Given the description of an element on the screen output the (x, y) to click on. 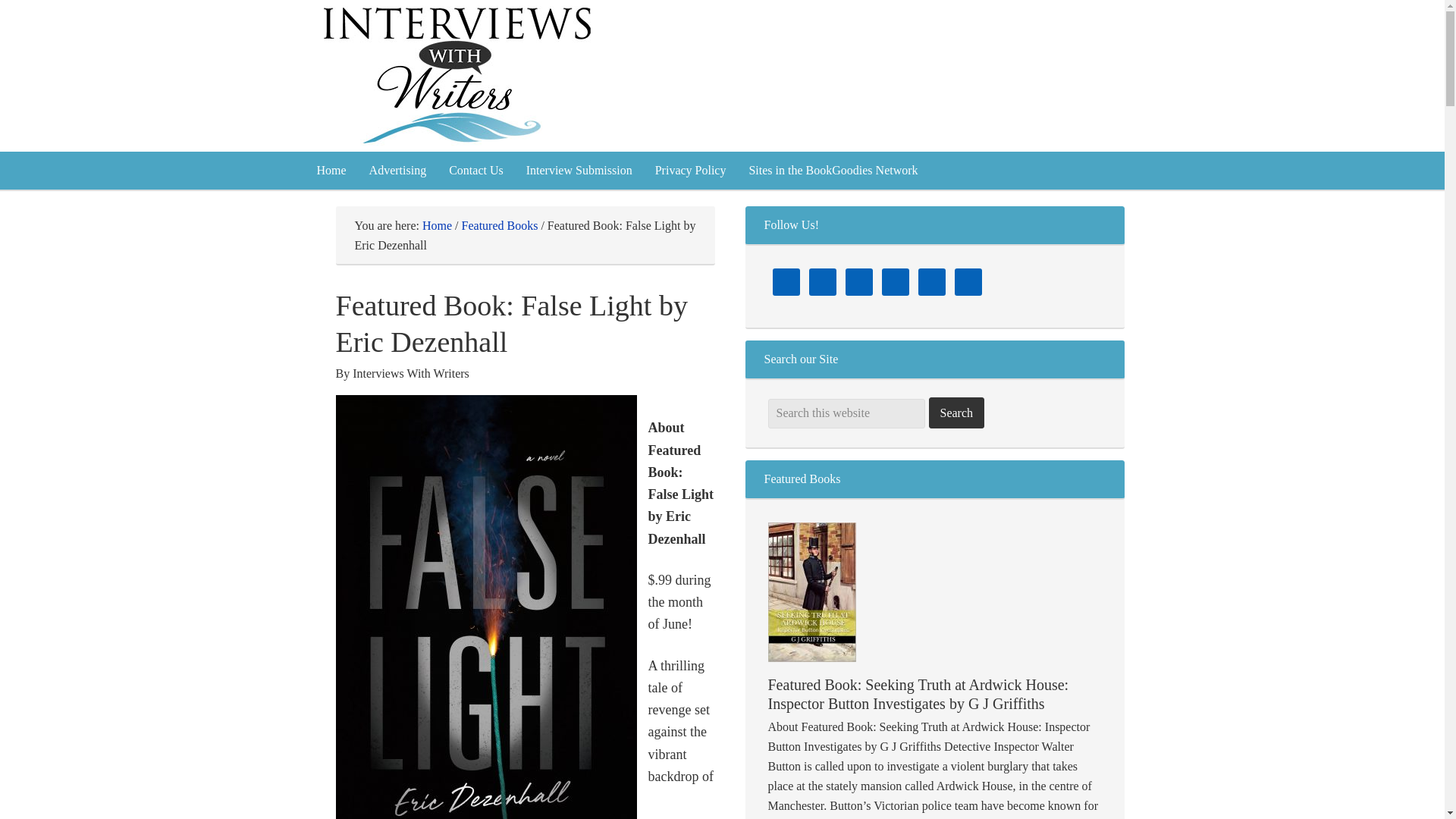
Interview Submission (579, 170)
Sites in the BookGoodies Network (832, 170)
Featured Books (499, 225)
Advertising (398, 170)
Home (436, 225)
Search (956, 412)
Home (330, 170)
Search (956, 412)
Search (956, 412)
